Given the description of an element on the screen output the (x, y) to click on. 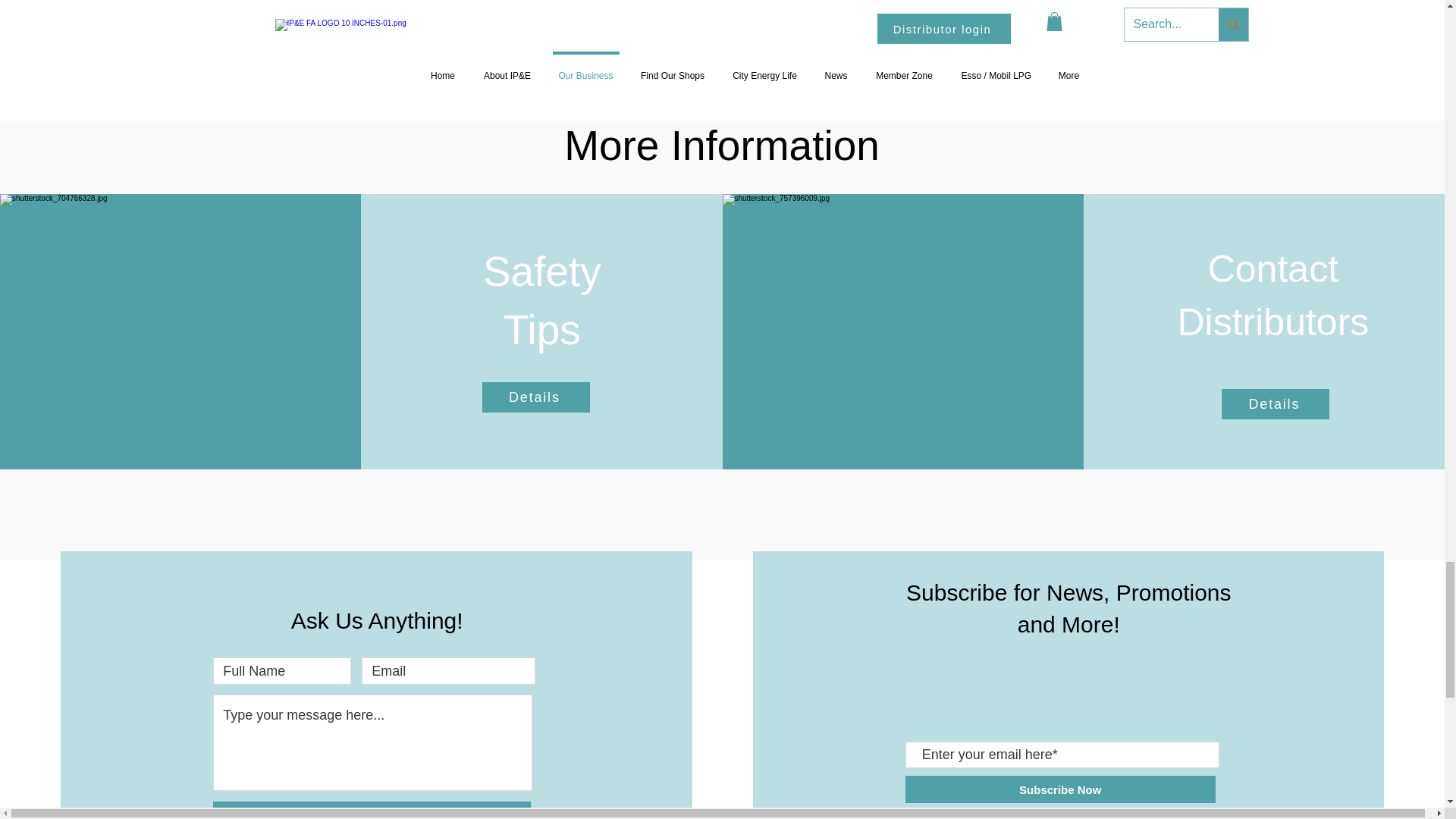
Subscribe Now (1060, 789)
Submit (371, 810)
Details (1275, 404)
Details (535, 397)
